Given the description of an element on the screen output the (x, y) to click on. 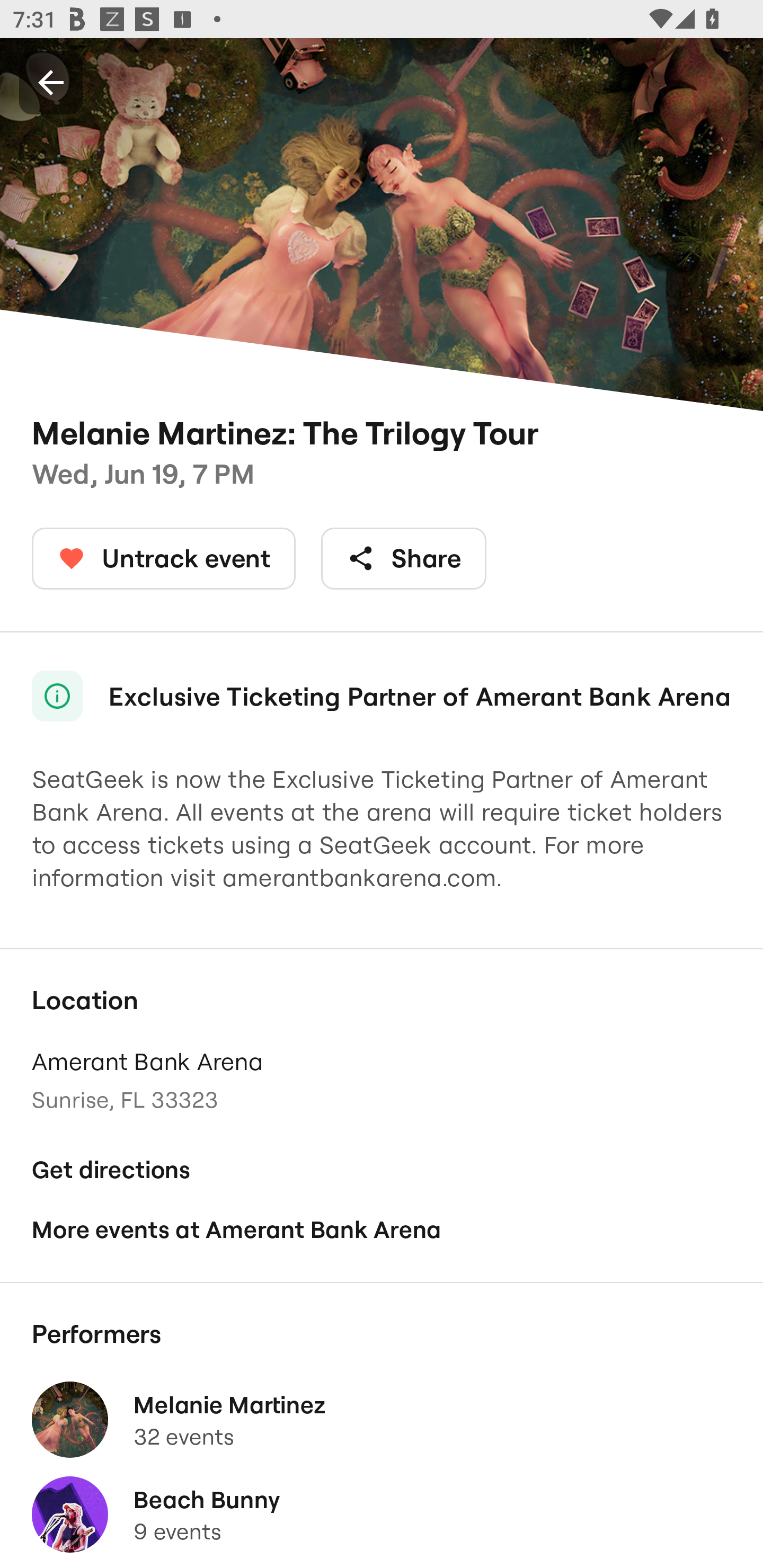
Back (50, 81)
Untrack event (164, 557)
Share (403, 557)
Get directions (381, 1169)
More events at Amerant Bank Arena (381, 1229)
Melanie Martinez 32 events (381, 1419)
Beach Bunny 9 events (381, 1514)
